Given the description of an element on the screen output the (x, y) to click on. 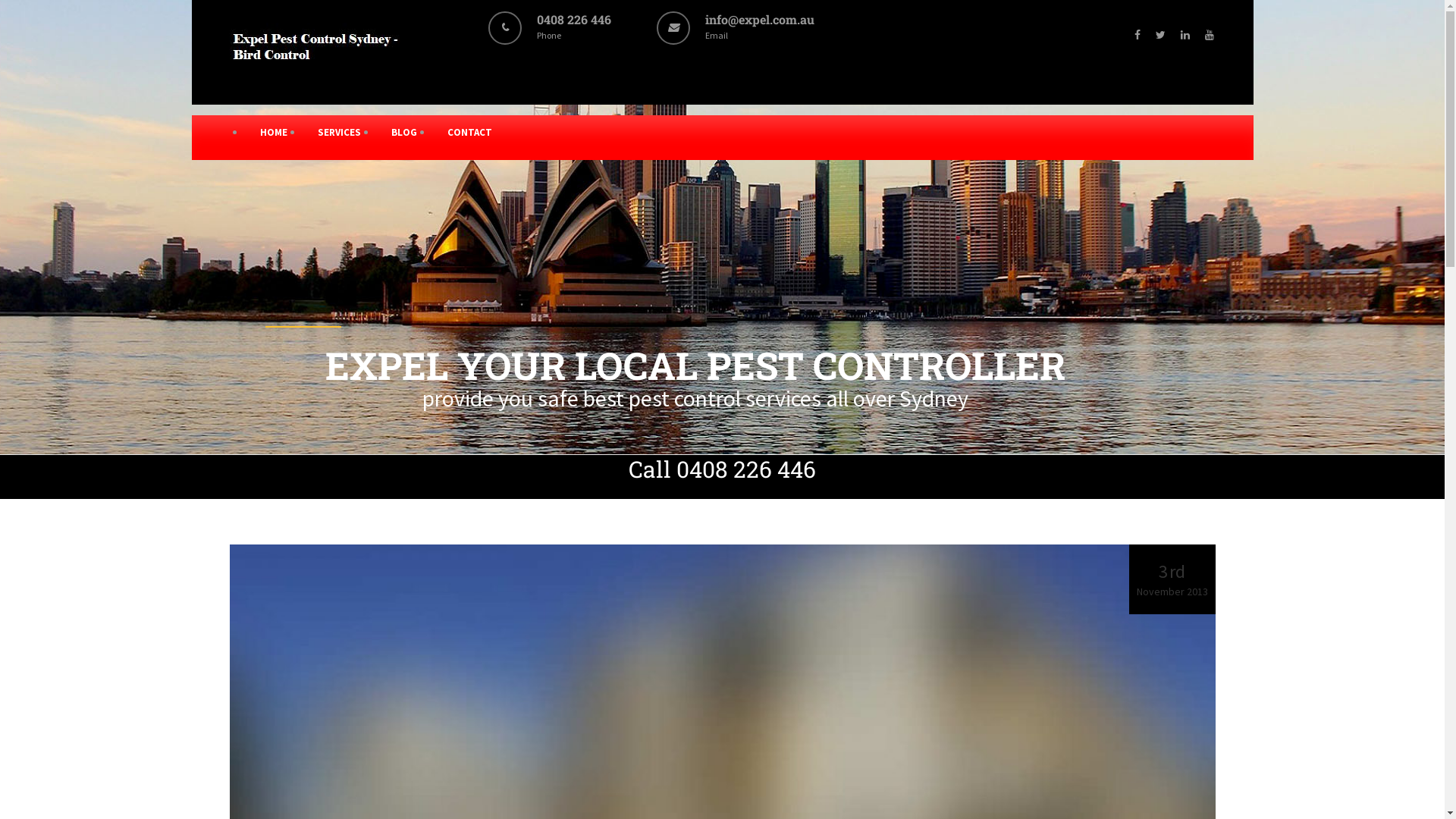
HOME Element type: text (272, 132)
Expel Pest Control Solutions Element type: hover (316, 67)
CONTACT Element type: text (469, 132)
0408 226 446
Phone Element type: text (573, 34)
0408 226 446 Element type: text (745, 468)
BLOG Element type: text (404, 132)
SERVICES Element type: text (338, 132)
